Given the description of an element on the screen output the (x, y) to click on. 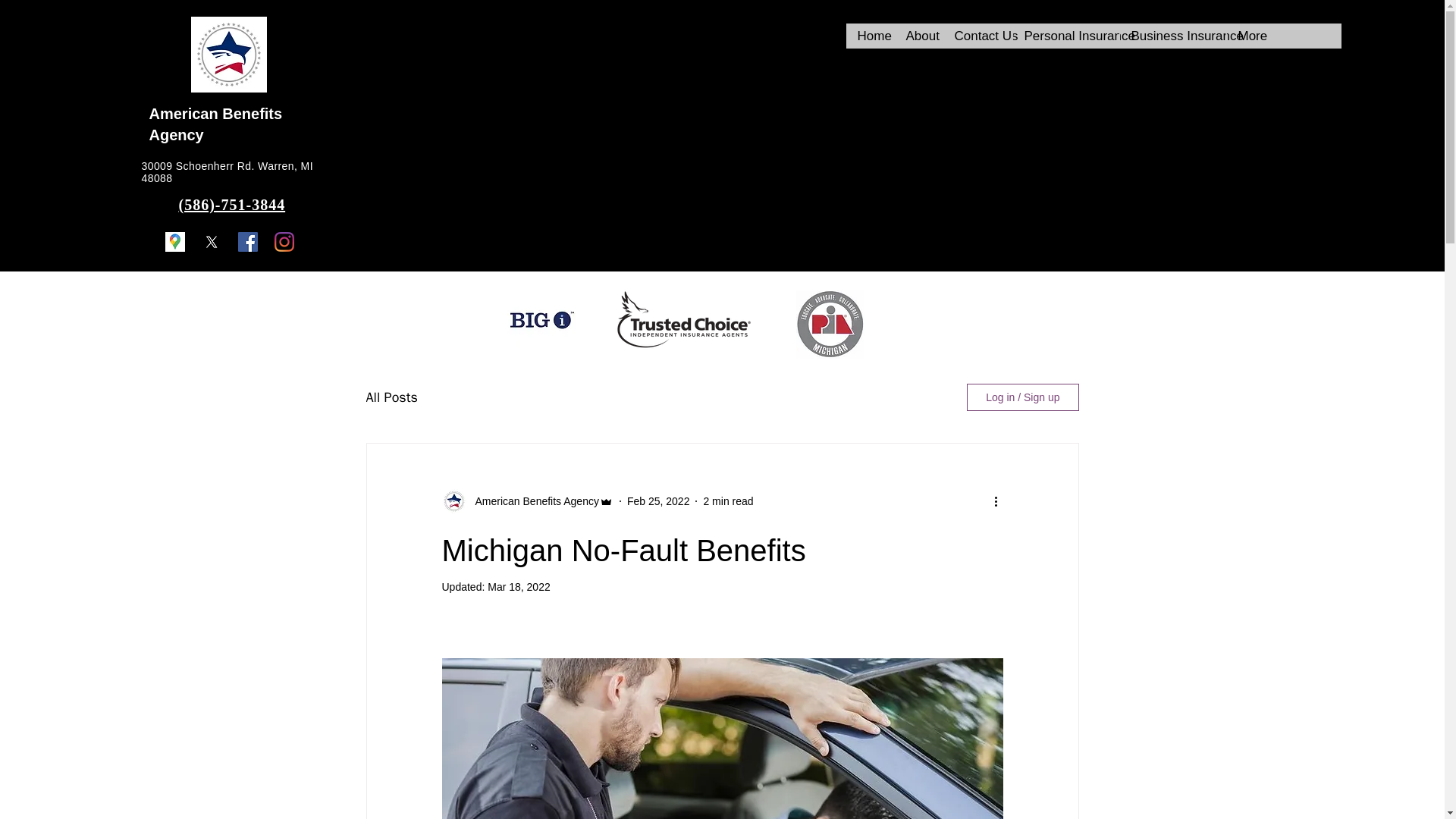
About (917, 35)
Mar 18, 2022 (518, 586)
2 min read (727, 500)
Business Insurance (1172, 35)
American Benefits Agency  (531, 501)
Home (869, 35)
Contact Us (976, 35)
All Posts (390, 397)
Feb 25, 2022 (658, 500)
Personal Insurance (1064, 35)
